Given the description of an element on the screen output the (x, y) to click on. 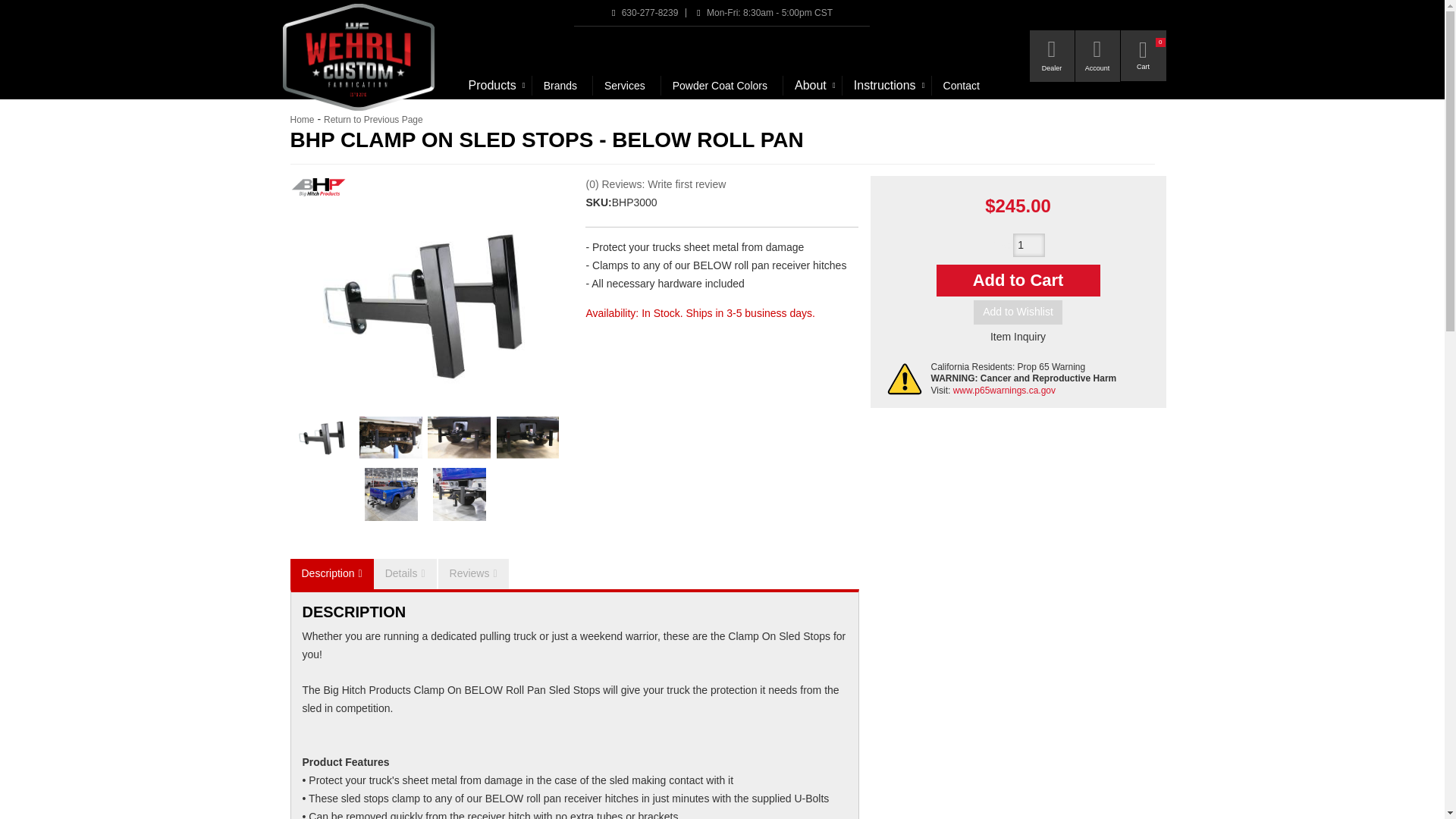
0 (1143, 55)
630-277-8239 (648, 12)
Services (626, 85)
Wehrli Custom Fabrication - WCFab Homepage (359, 57)
Products (494, 85)
Products (494, 85)
1 (1029, 245)
About (812, 85)
call us (648, 12)
Instructions (887, 85)
Brands (562, 85)
Powder Coat Colors (722, 85)
